Given the description of an element on the screen output the (x, y) to click on. 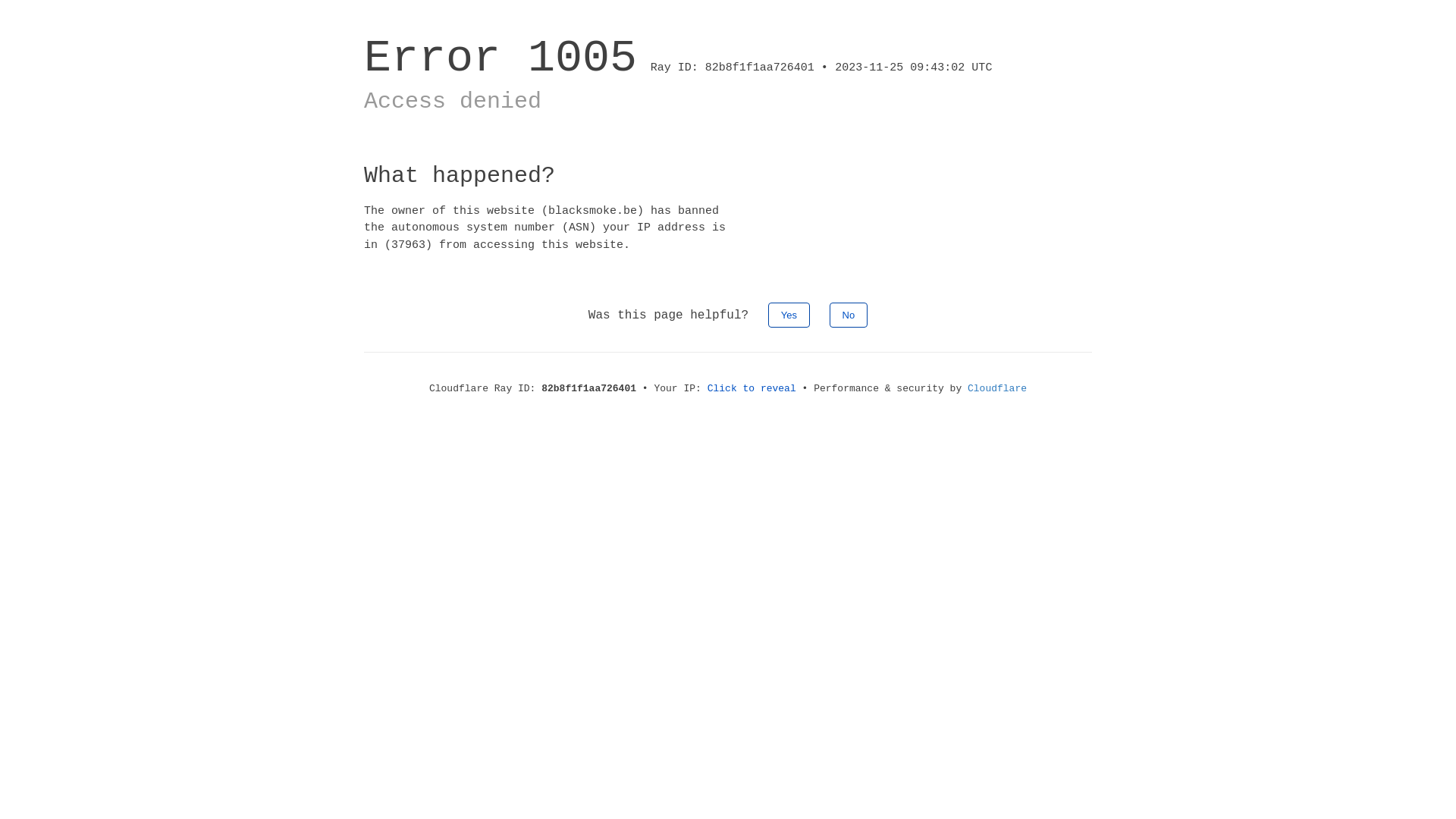
Click to reveal Element type: text (751, 388)
Cloudflare Element type: text (996, 388)
Yes Element type: text (788, 314)
No Element type: text (848, 314)
